Given the description of an element on the screen output the (x, y) to click on. 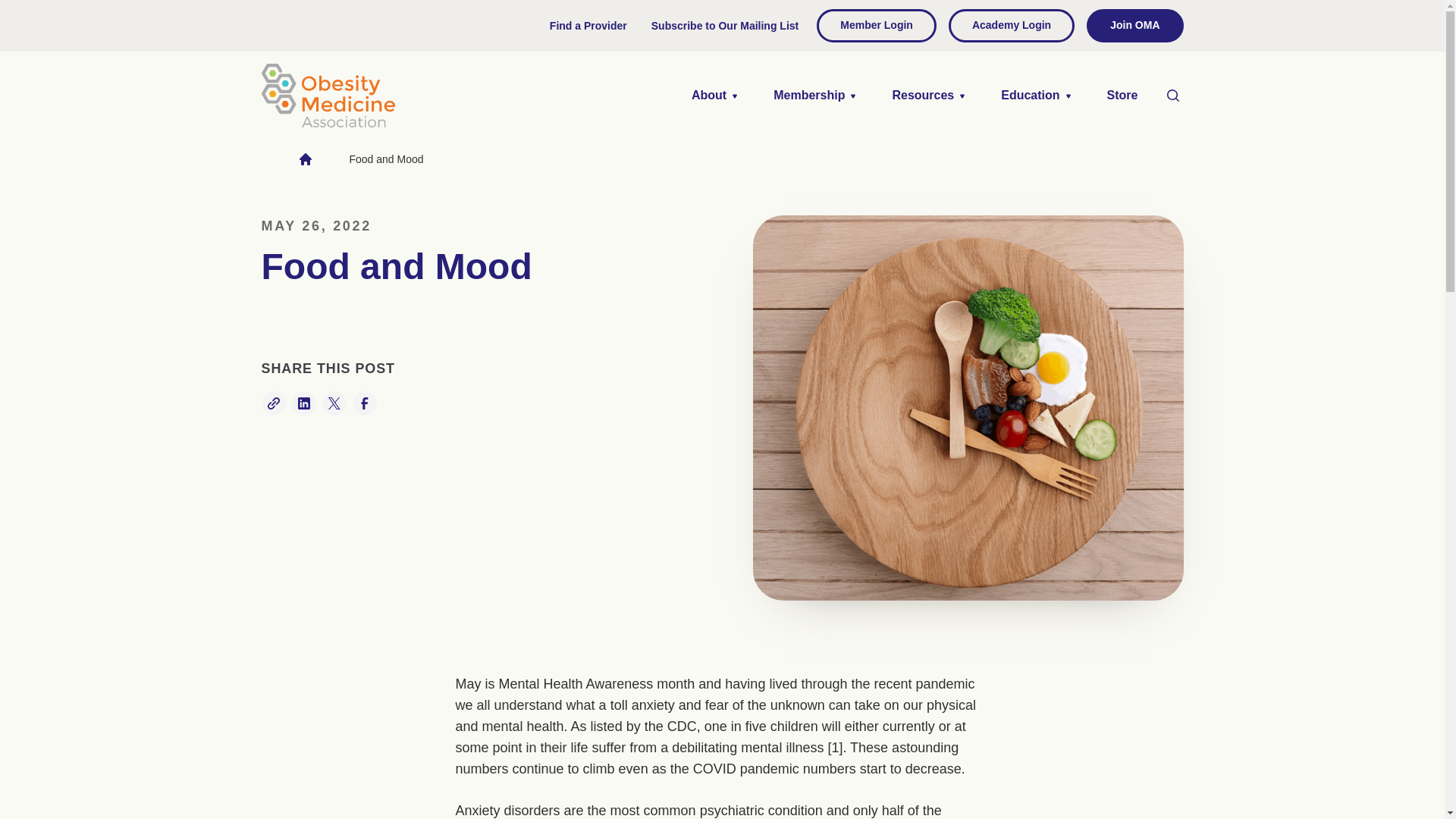
Subscribe to Our Mailing List (725, 25)
Join OMA (1134, 25)
Find a Provider (588, 25)
Education (1034, 95)
Academy Login (1011, 25)
Membership (814, 95)
Resources (927, 95)
About (714, 95)
Member Login (876, 25)
